Given the description of an element on the screen output the (x, y) to click on. 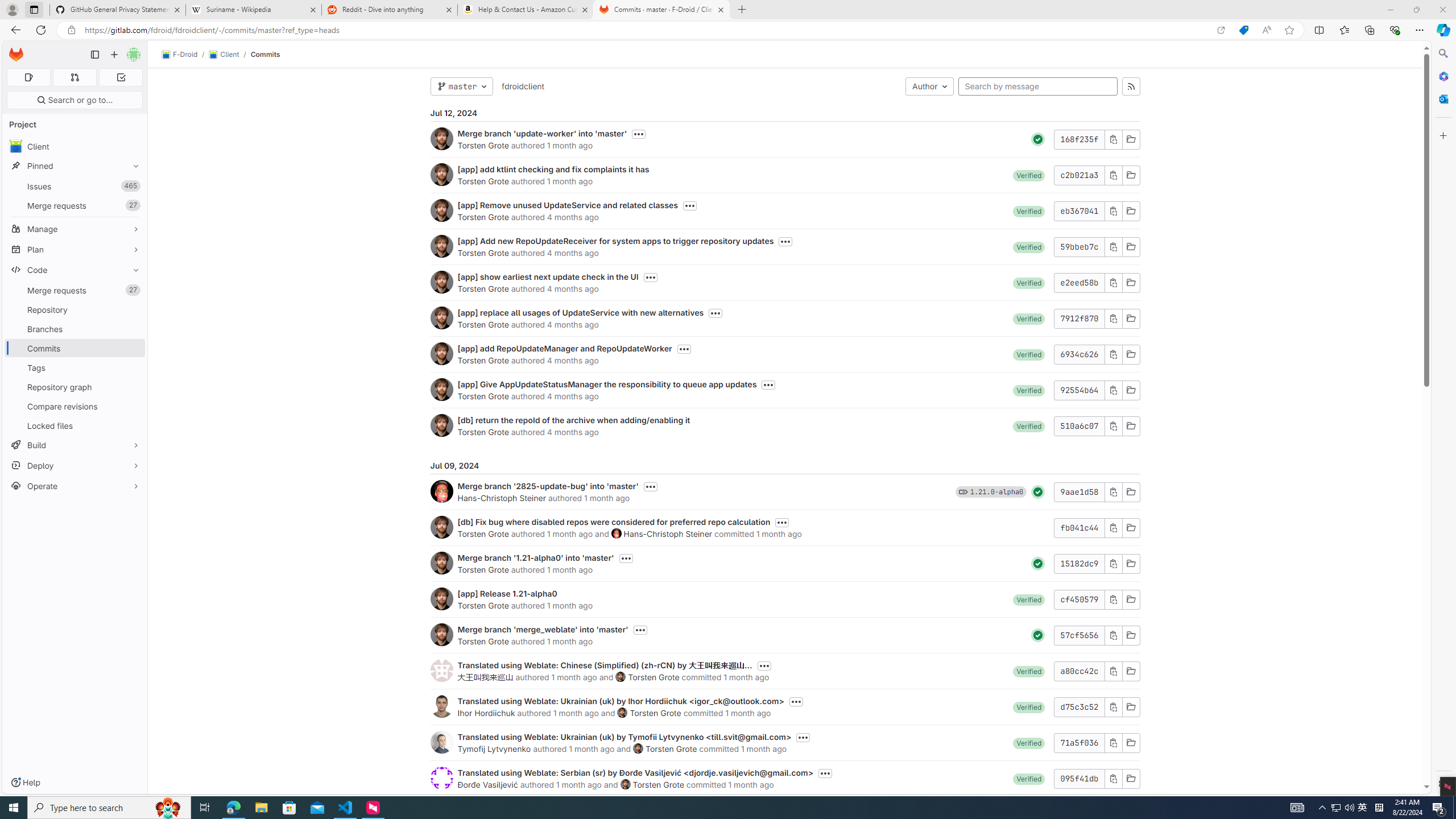
fdroidclient (522, 85)
Minimize (1390, 9)
Repository (74, 309)
Author (929, 85)
Locked files (74, 425)
Favorites (1344, 29)
Pin Locked files (132, 425)
F-Droid/ (185, 54)
Deploy (74, 465)
Plan (74, 248)
Primary navigation sidebar (94, 54)
Side bar (1443, 418)
Repository (74, 309)
Unpin Merge requests (132, 290)
